Given the description of an element on the screen output the (x, y) to click on. 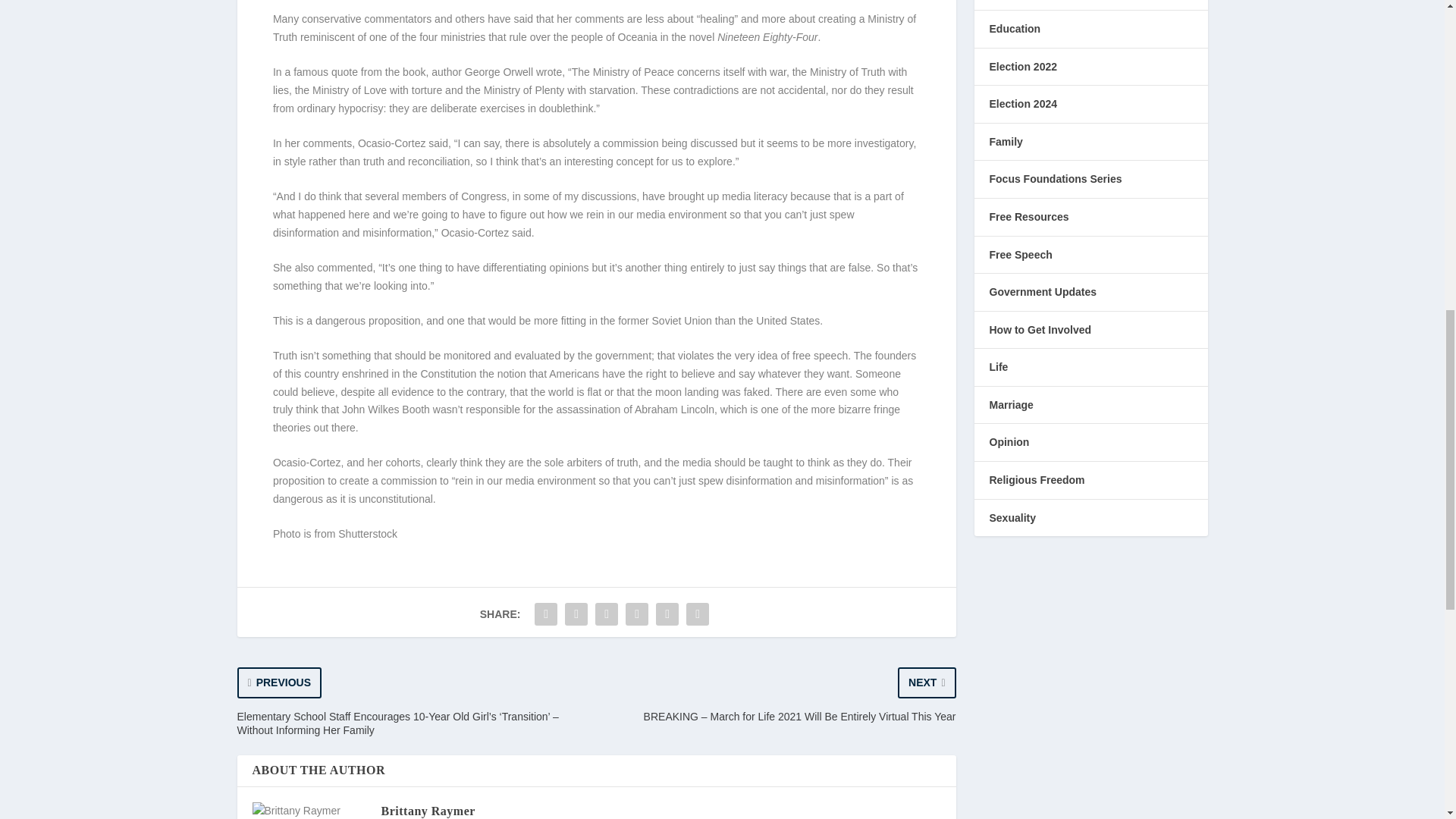
Shutterstock (367, 533)
View all posts by Brittany Raymer (427, 810)
Brittany Raymer (427, 810)
